Given the description of an element on the screen output the (x, y) to click on. 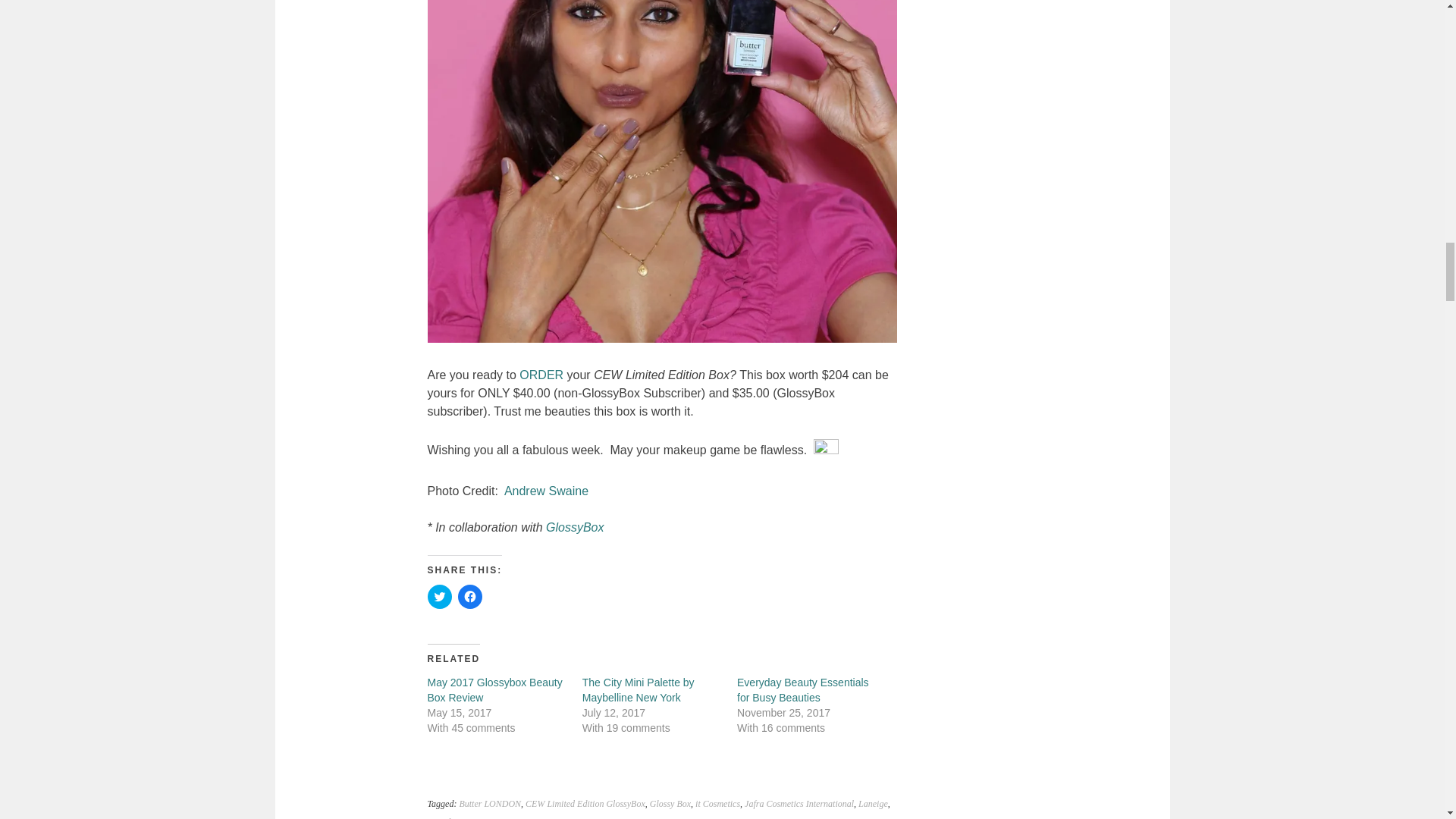
Click to share on Twitter (439, 596)
May 2017 Glossybox Beauty Box Review (495, 689)
ORDER (541, 374)
Glossy Box (669, 803)
Everyday Beauty Essentials for Busy Beauties (802, 689)
Click to share on Facebook (469, 596)
GlossyBox (575, 526)
The City Mini Palette by Maybelline New York (638, 689)
May 2017 Glossybox Beauty Box Review (495, 689)
The City Mini Palette by Maybelline New York (638, 689)
Everyday Beauty Essentials for Busy Beauties (802, 689)
Andrew Swaine (545, 490)
Butter LONDON (489, 803)
CEW Limited Edition GlossyBox (585, 803)
